Given the description of an element on the screen output the (x, y) to click on. 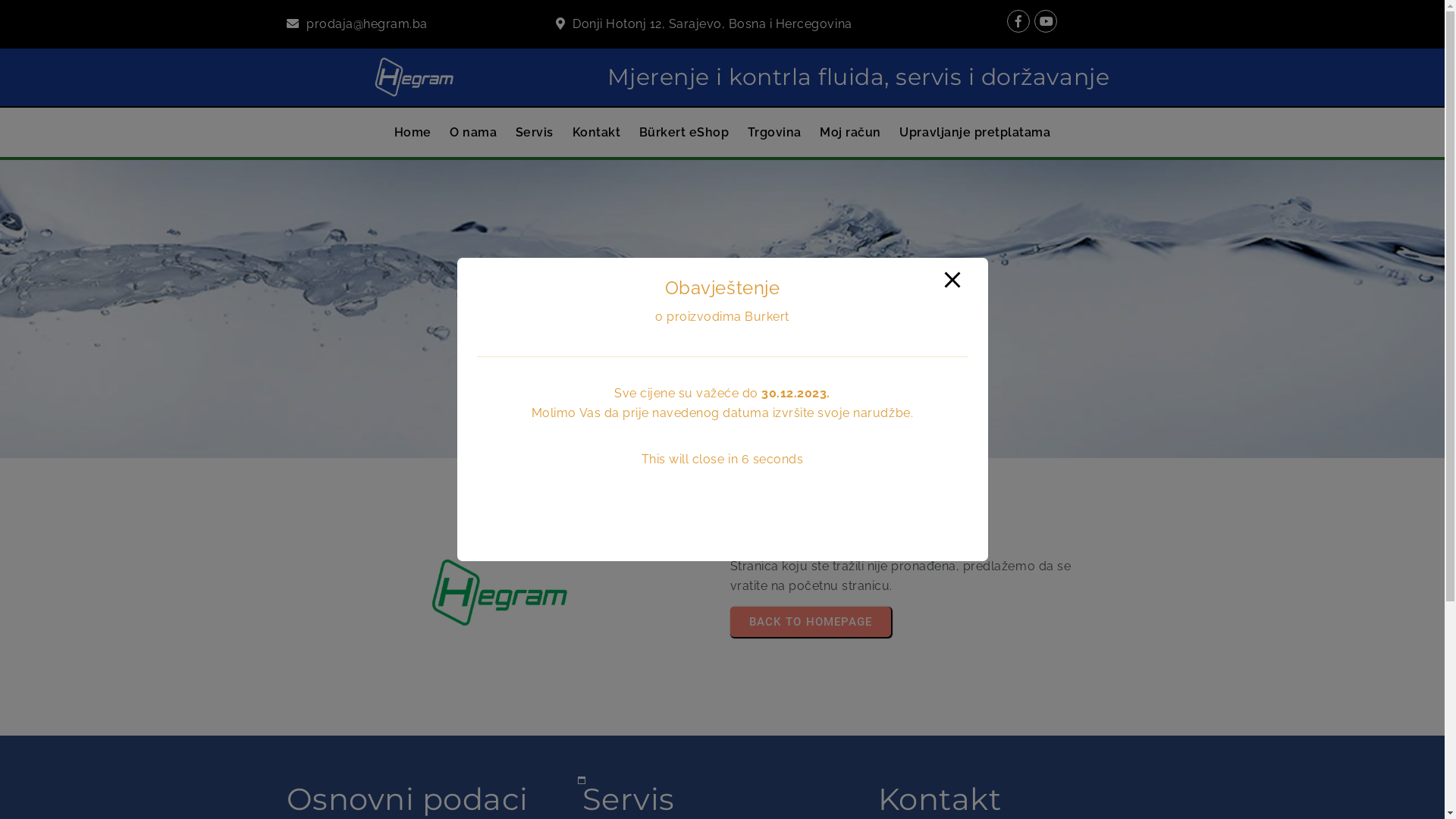
Kontakt Element type: text (595, 132)
prodaja@hegram.ba Element type: text (366, 24)
Servis Element type: text (534, 132)
BACK TO HOMEPAGE Element type: text (809, 621)
Website Element type: hover (576, 253)
O nama Element type: text (473, 132)
Upravljanje pretplatama Element type: text (974, 132)
Home Element type: text (412, 132)
Trgovina Element type: text (774, 132)
logo zeleni Element type: hover (500, 592)
